Given the description of an element on the screen output the (x, y) to click on. 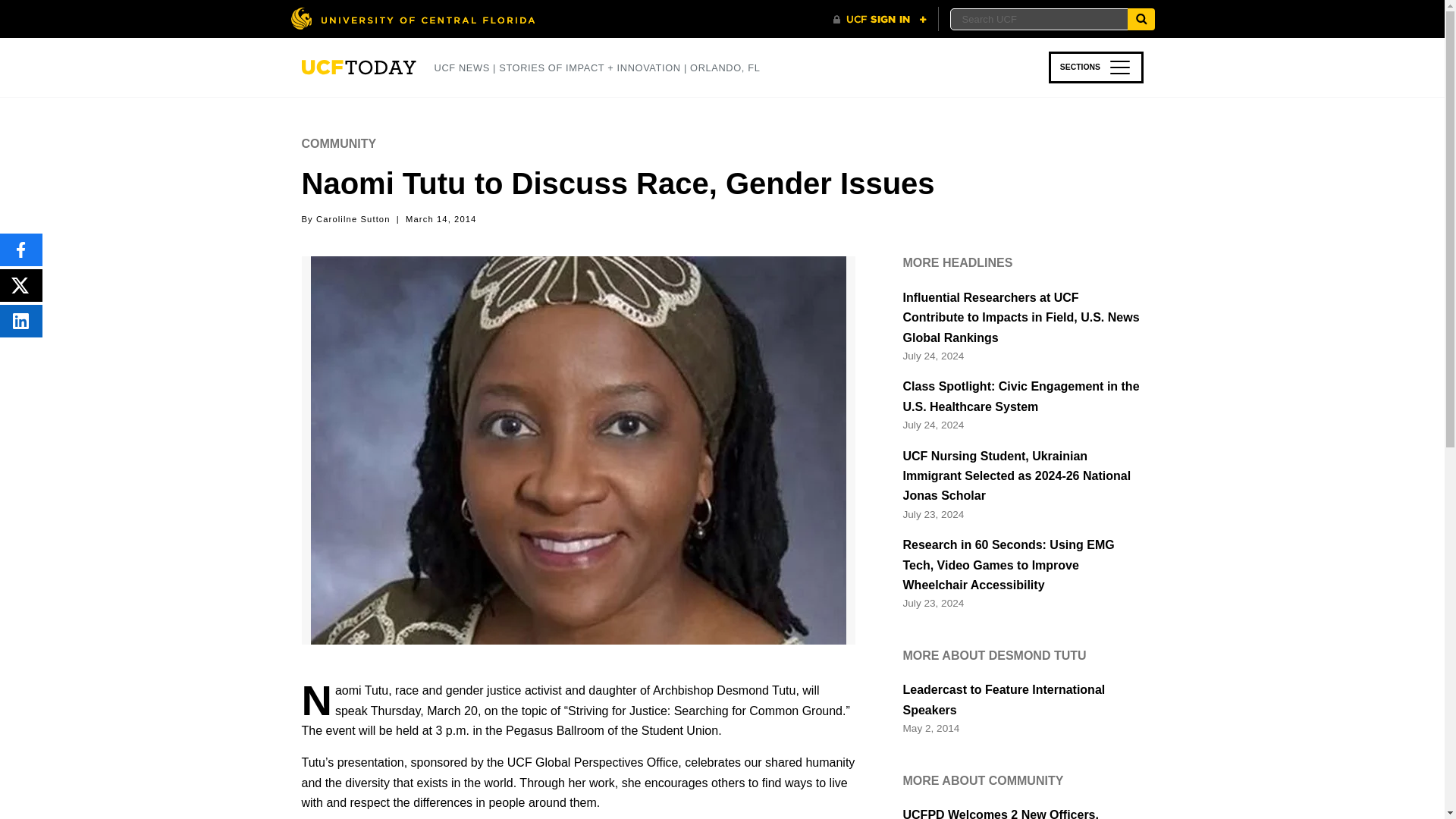
POST (21, 285)
Leadercast to Feature International Speakers (1022, 700)
SECTIONS (1095, 67)
SHARE (21, 249)
Search (1140, 19)
UCFPD Welcomes 2 New Officers, Celebrates Promotions (1022, 812)
SHARE (21, 320)
